Given the description of an element on the screen output the (x, y) to click on. 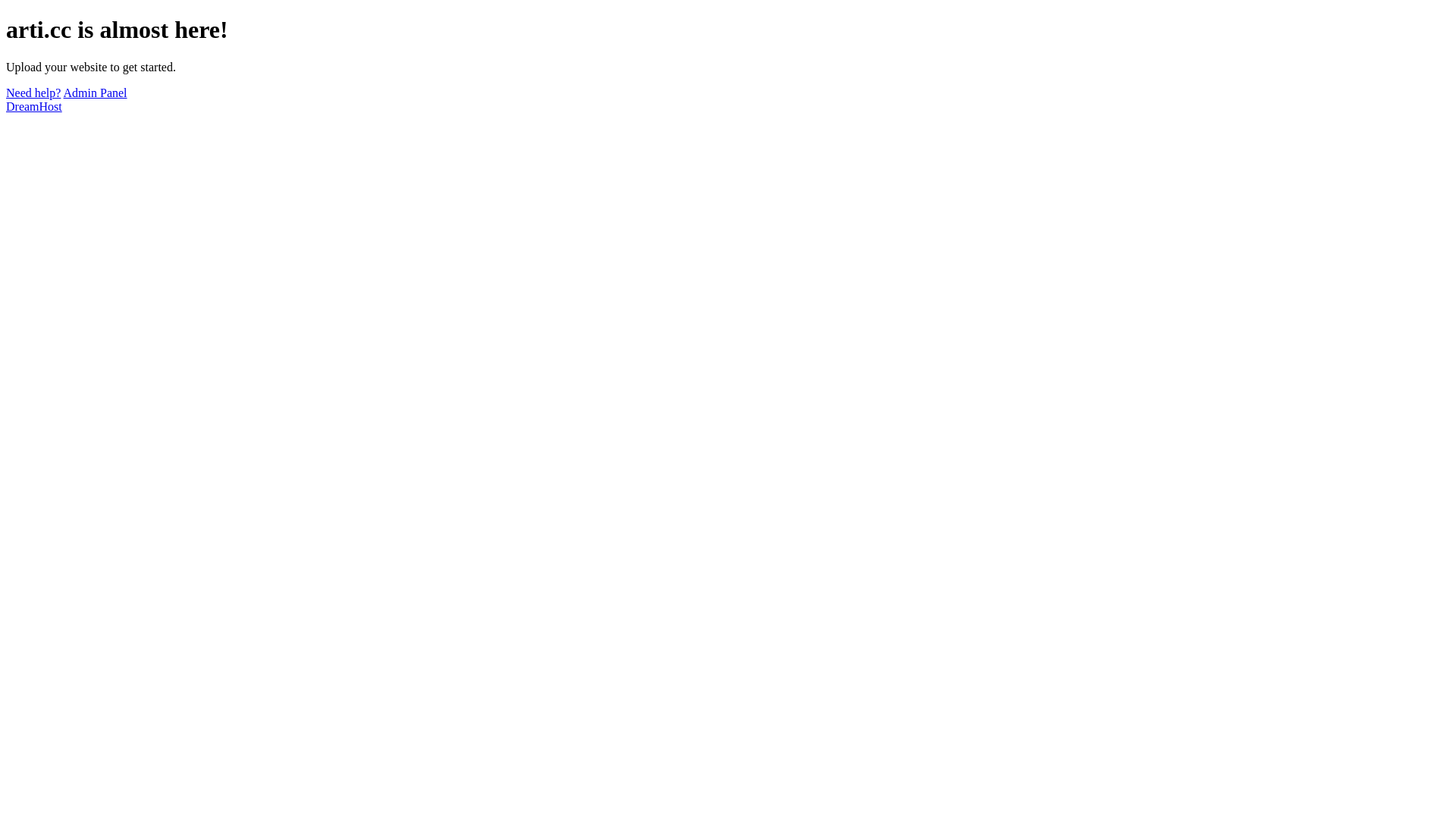
Need help? Element type: text (33, 92)
DreamHost Element type: text (34, 106)
Admin Panel Element type: text (95, 92)
